Given the description of an element on the screen output the (x, y) to click on. 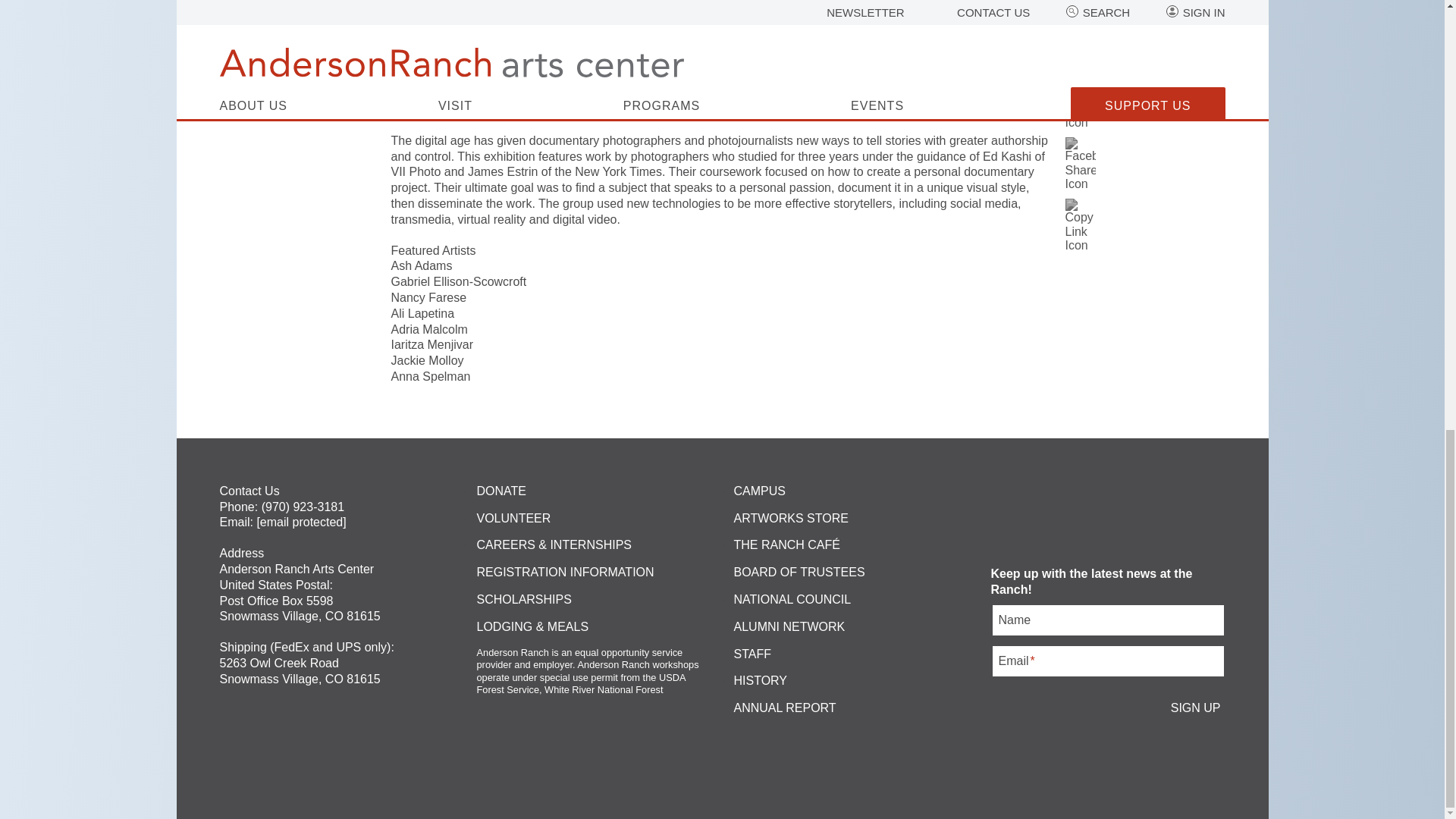
Screen-Shot-2019-06-06-at-3.44.34-PM (722, 28)
